Given the description of an element on the screen output the (x, y) to click on. 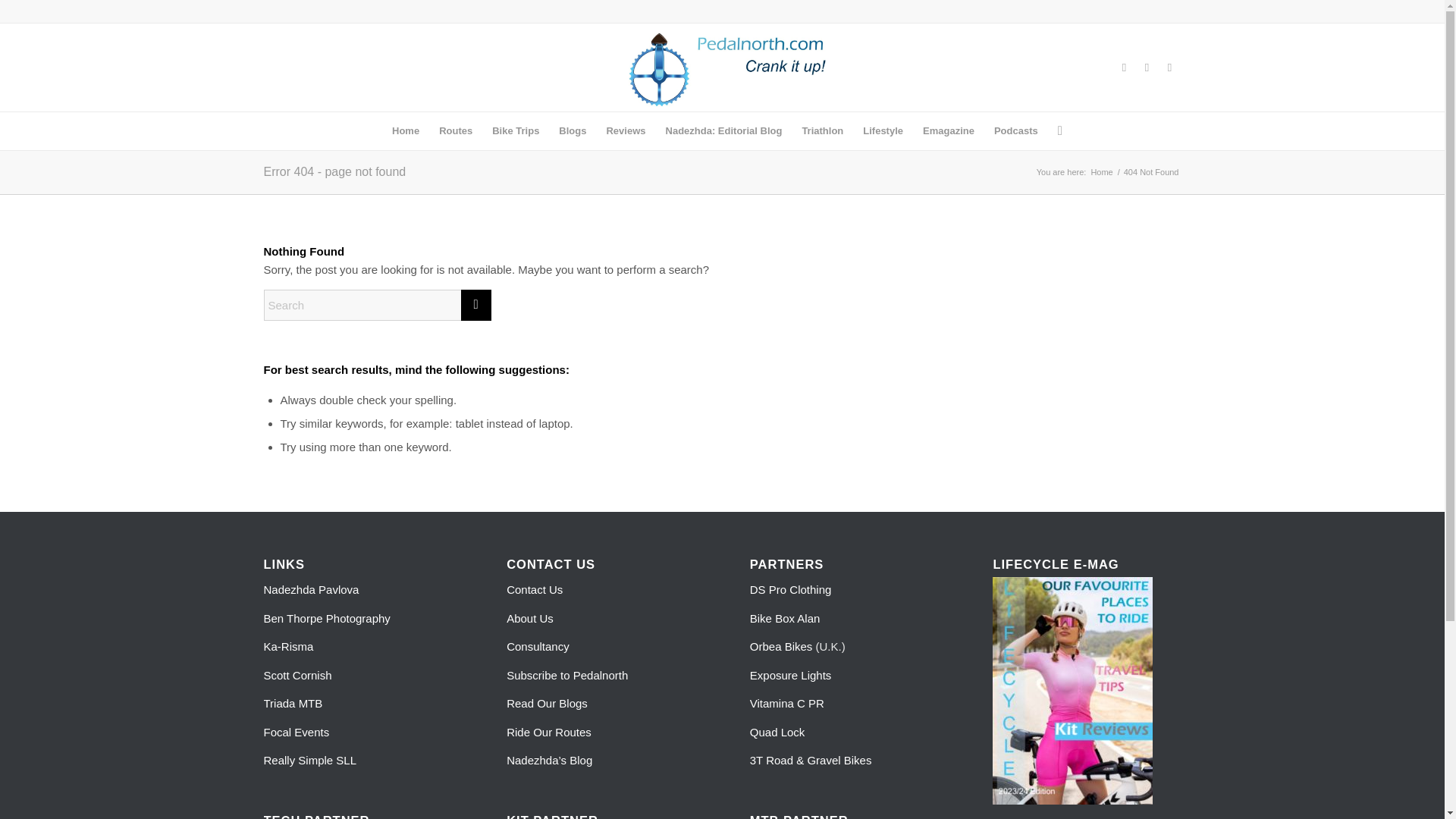
pedalnorth (1101, 172)
X (1146, 67)
Instagram (1169, 67)
Click to start search (476, 305)
Routes (455, 130)
Facebook (1124, 67)
Home (405, 130)
